Given the description of an element on the screen output the (x, y) to click on. 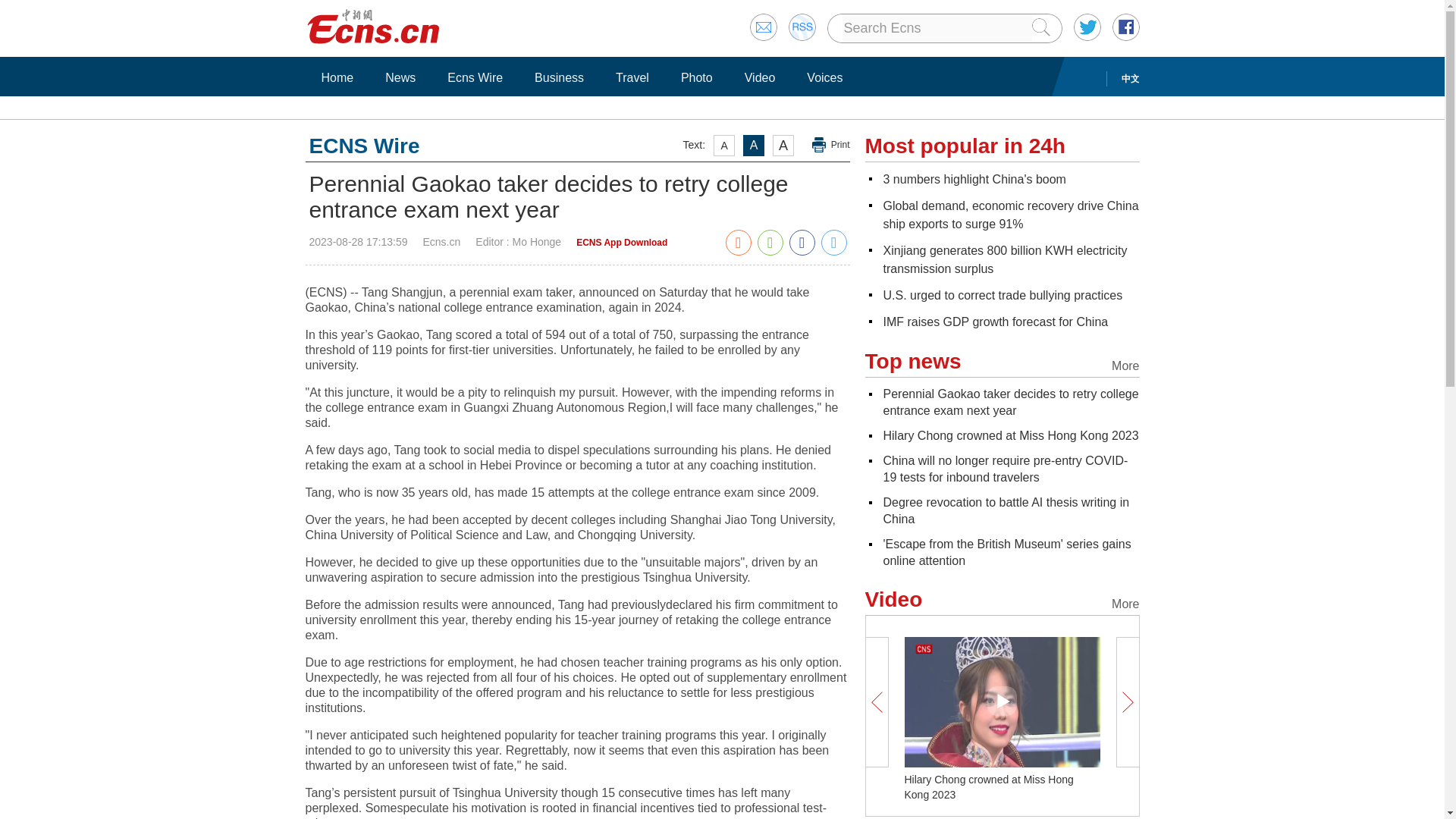
Global (1010, 214)
Home (337, 77)
Search Ecns (935, 27)
Ecns Wire (475, 77)
3 (973, 178)
U.S. (1002, 295)
Travel (632, 77)
Print (831, 144)
News (400, 77)
Photo (696, 77)
ECNS App Download (621, 242)
Xinjiang (1004, 259)
Voices (823, 77)
IMF (995, 321)
Business (558, 77)
